Given the description of an element on the screen output the (x, y) to click on. 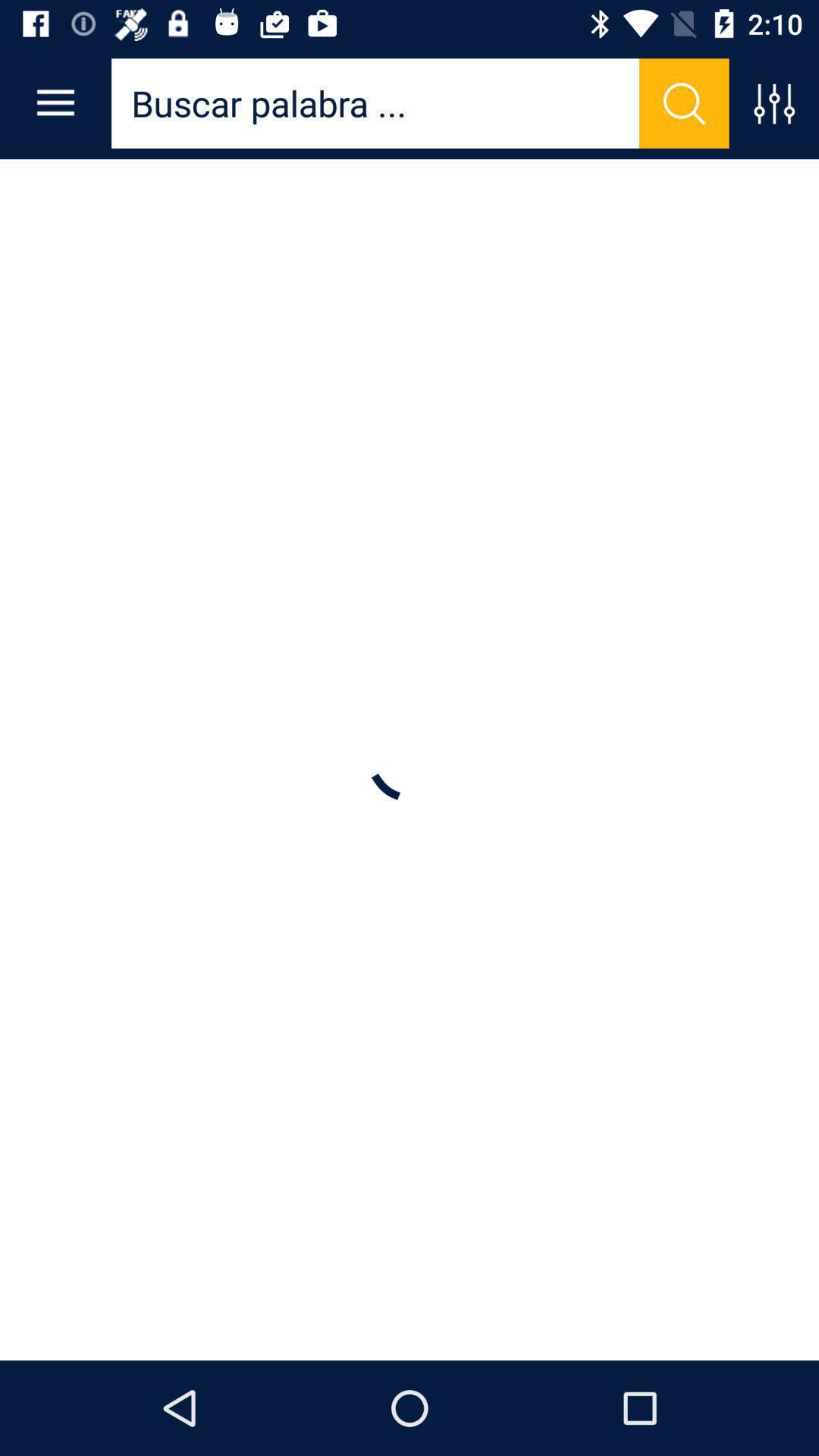
switch to filter (774, 103)
